Given the description of an element on the screen output the (x, y) to click on. 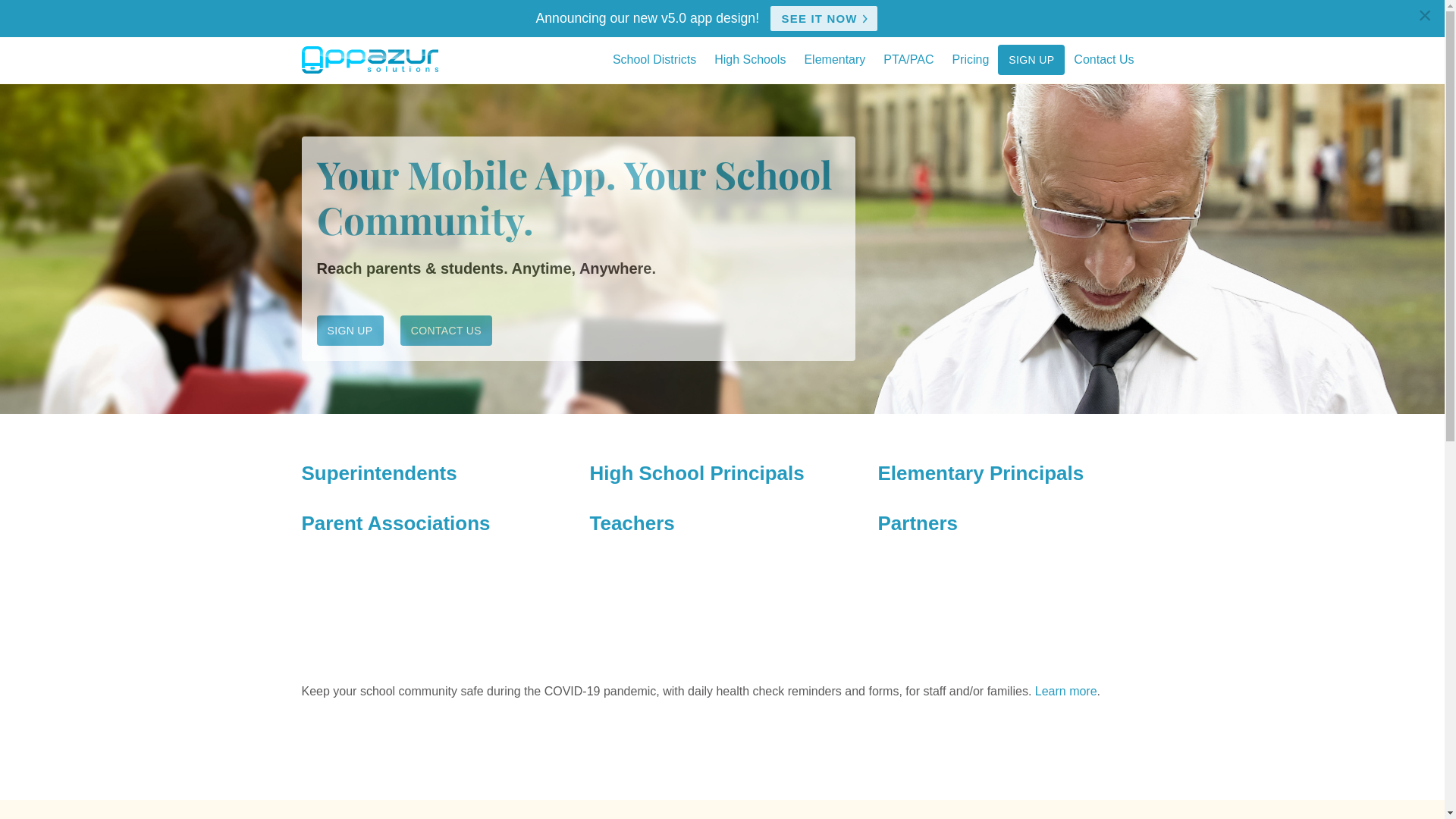
SIGN UP Element type: text (1030, 59)
High Schools Element type: text (749, 59)
PTA/PAC Element type: text (908, 59)
SIGN UP Element type: text (349, 330)
Superintendents Element type: text (379, 472)
SEE IT NOW Element type: text (823, 18)
Parent Associations Element type: text (395, 522)
School Districts Element type: text (654, 59)
High School Principals Element type: text (696, 472)
CONTACT US Element type: text (446, 330)
Learn more Element type: text (1066, 690)
Elementary Principals Element type: text (981, 472)
Contact Us Element type: text (1103, 59)
Partners Element type: text (918, 522)
Pricing Element type: text (969, 59)
Teachers Element type: text (631, 522)
Elementary Element type: text (834, 59)
